Given the description of an element on the screen output the (x, y) to click on. 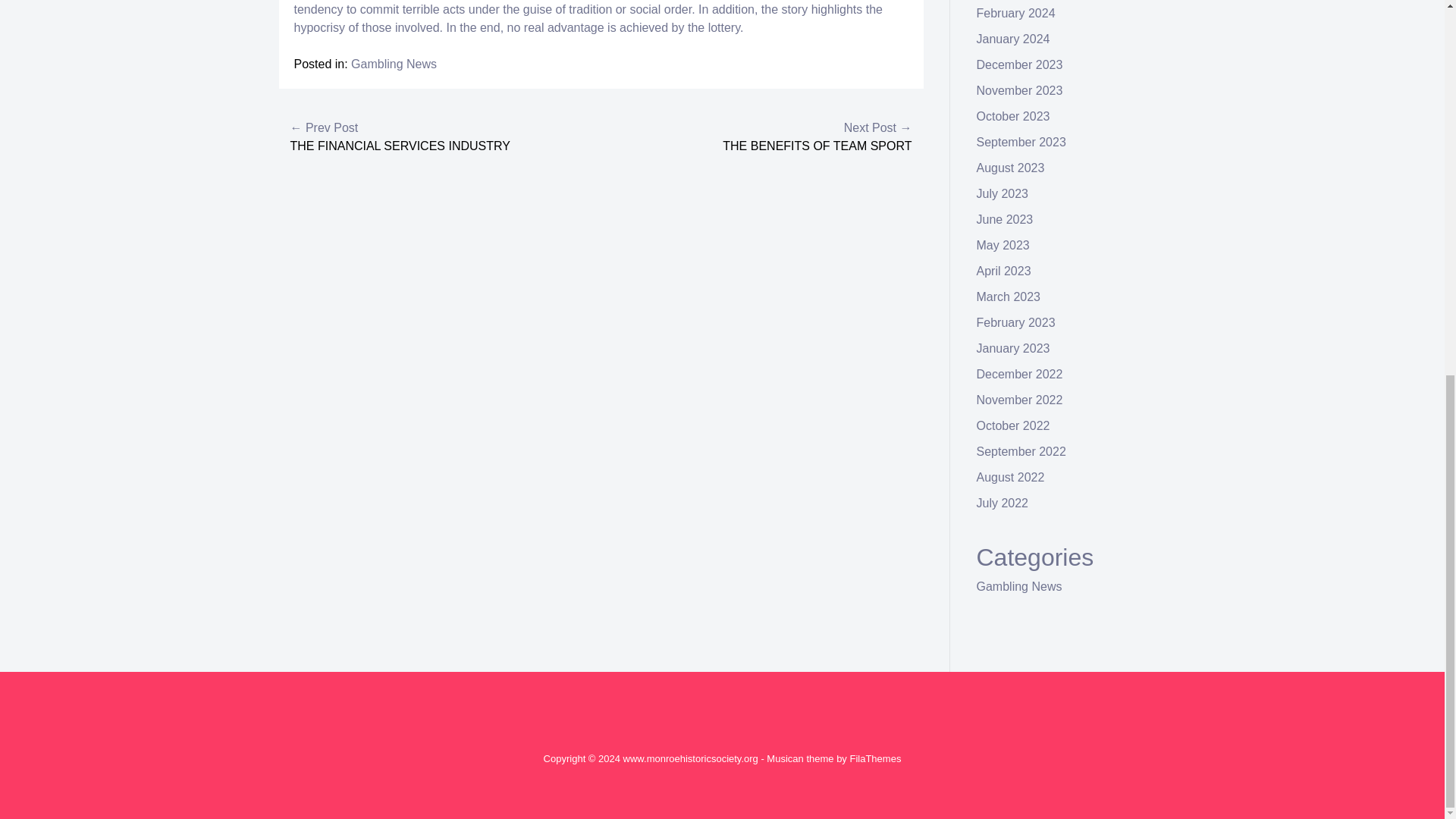
December 2022 (1019, 373)
January 2023 (1012, 348)
August 2023 (1010, 167)
April 2023 (1003, 270)
November 2022 (1019, 399)
July 2023 (1002, 193)
October 2023 (1012, 115)
February 2023 (1015, 322)
March 2023 (1008, 296)
November 2023 (1019, 90)
